Given the description of an element on the screen output the (x, y) to click on. 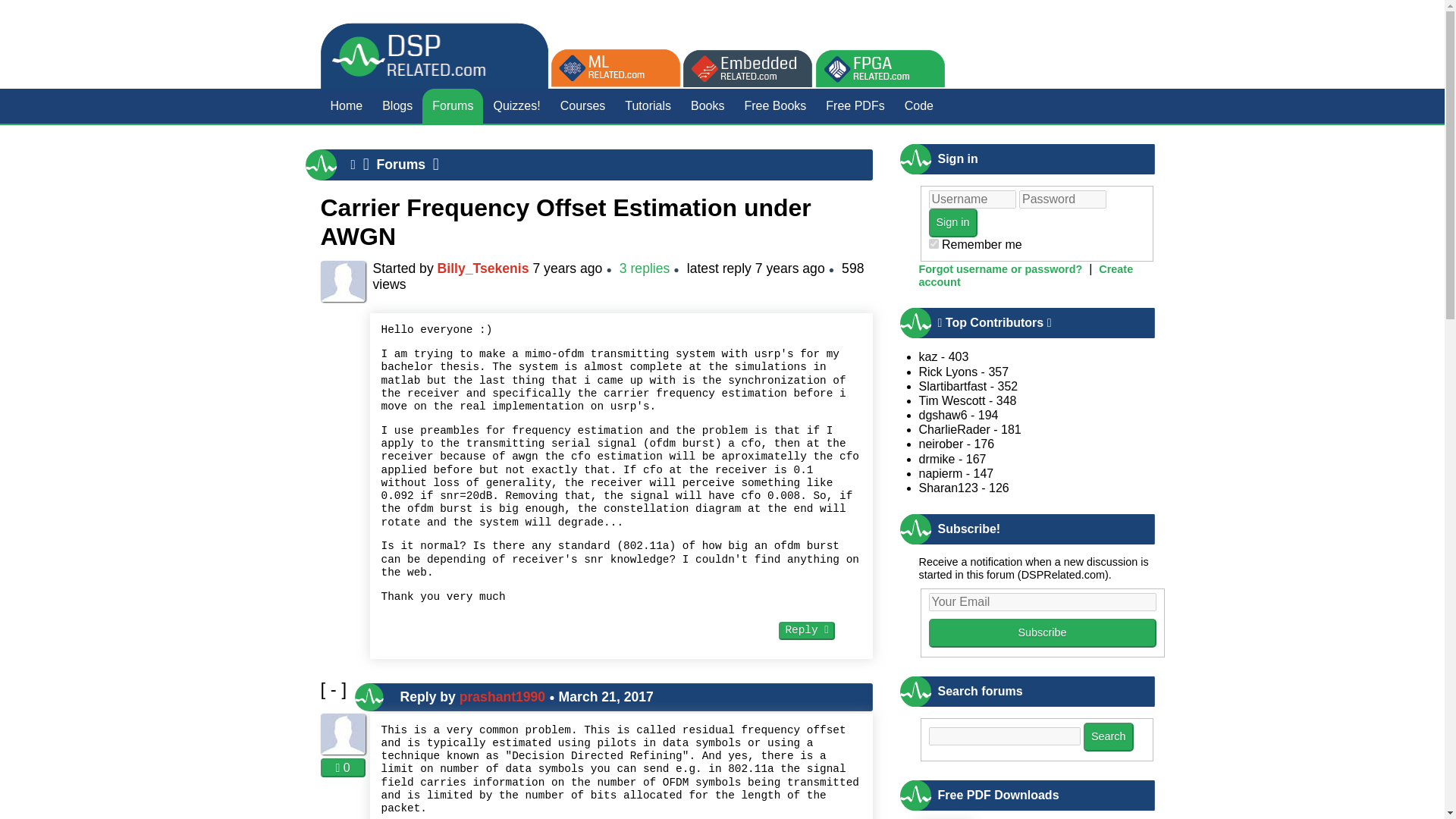
Free Books (775, 105)
checked (932, 243)
Free PDFs (854, 105)
Courses (582, 105)
DSP Courses (582, 105)
Carrier Frequency Offset Estimation under AWGN (565, 222)
Tutorials (647, 105)
DSP Books (707, 105)
DSP Free PDFs (854, 105)
Blogs (397, 105)
DSP Blogs (397, 105)
DSP Quizzes! (516, 105)
DSP Code Snippets (919, 105)
Books (707, 105)
Free DSP Books (775, 105)
